Given the description of an element on the screen output the (x, y) to click on. 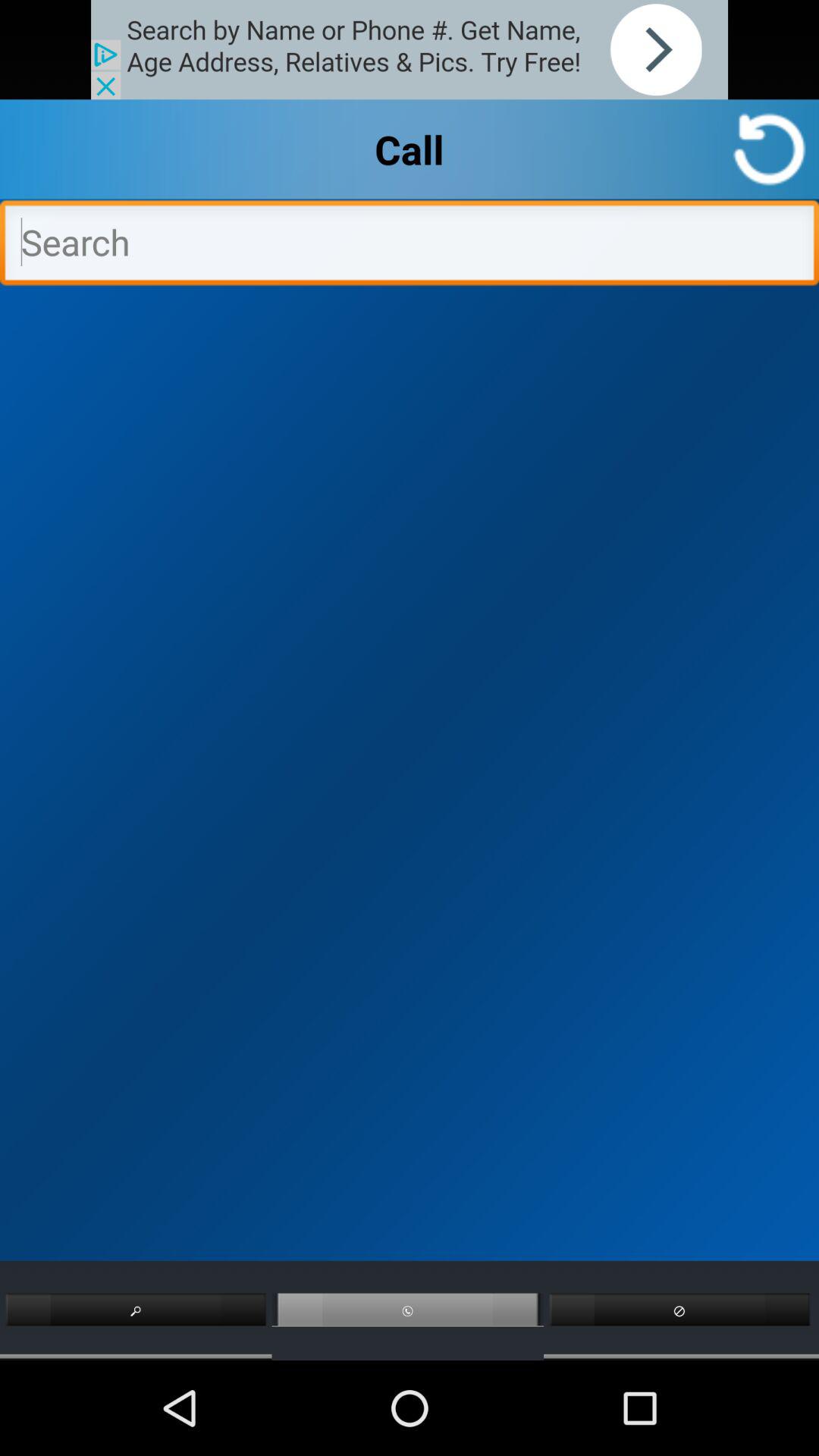
reload button (769, 149)
